Given the description of an element on the screen output the (x, y) to click on. 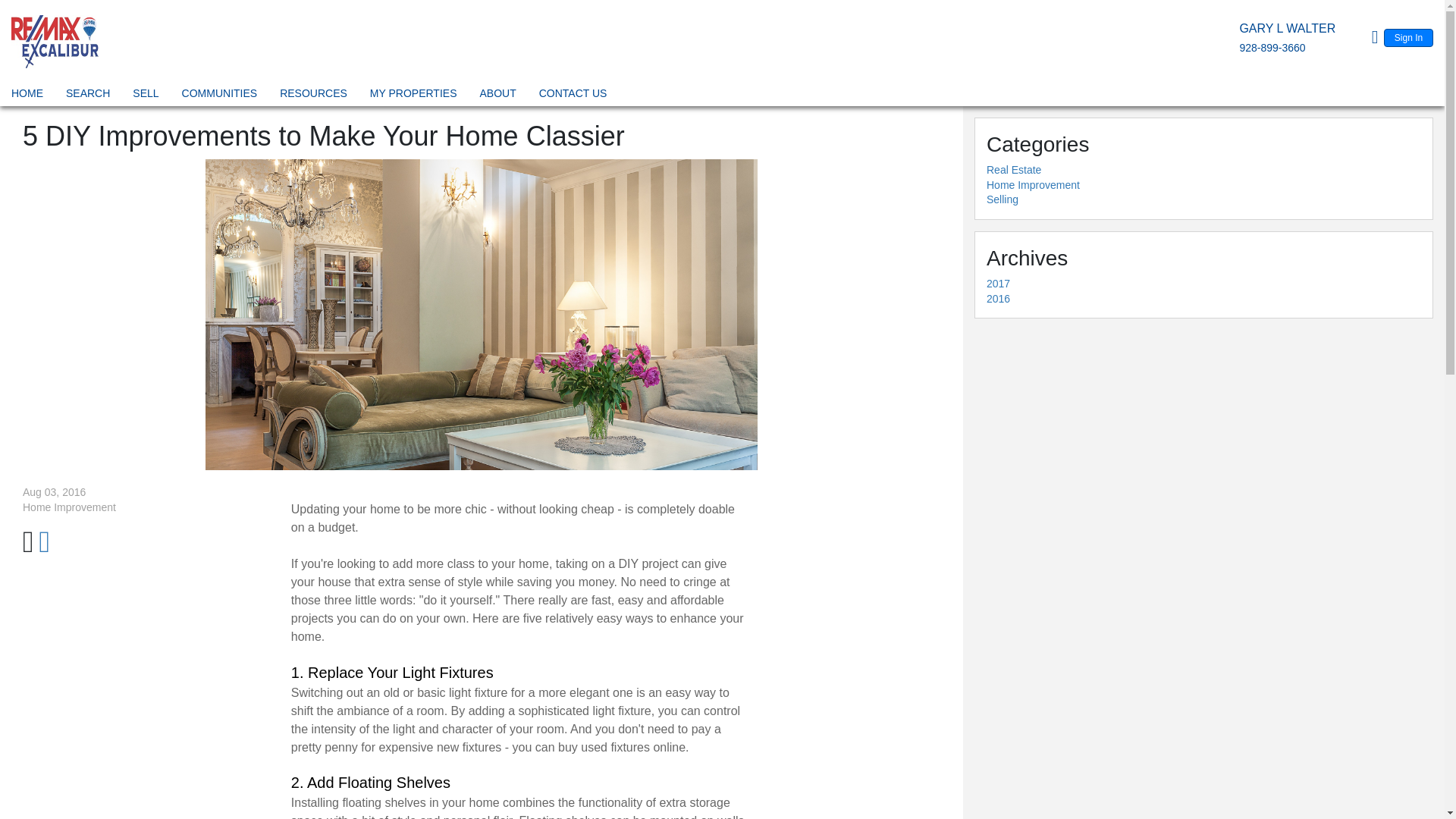
Sign In (1408, 37)
HOME (26, 95)
Selling (1002, 199)
RESOURCES (313, 95)
ABOUT (497, 95)
2016 (998, 298)
928-899-3660 (1271, 47)
SEARCH (87, 95)
CONTACT US (573, 95)
SELL (145, 95)
Home Improvement (1033, 184)
MY PROPERTIES (413, 95)
COMMUNITIES (219, 95)
2017 (998, 283)
Real Estate (1014, 169)
